Given the description of an element on the screen output the (x, y) to click on. 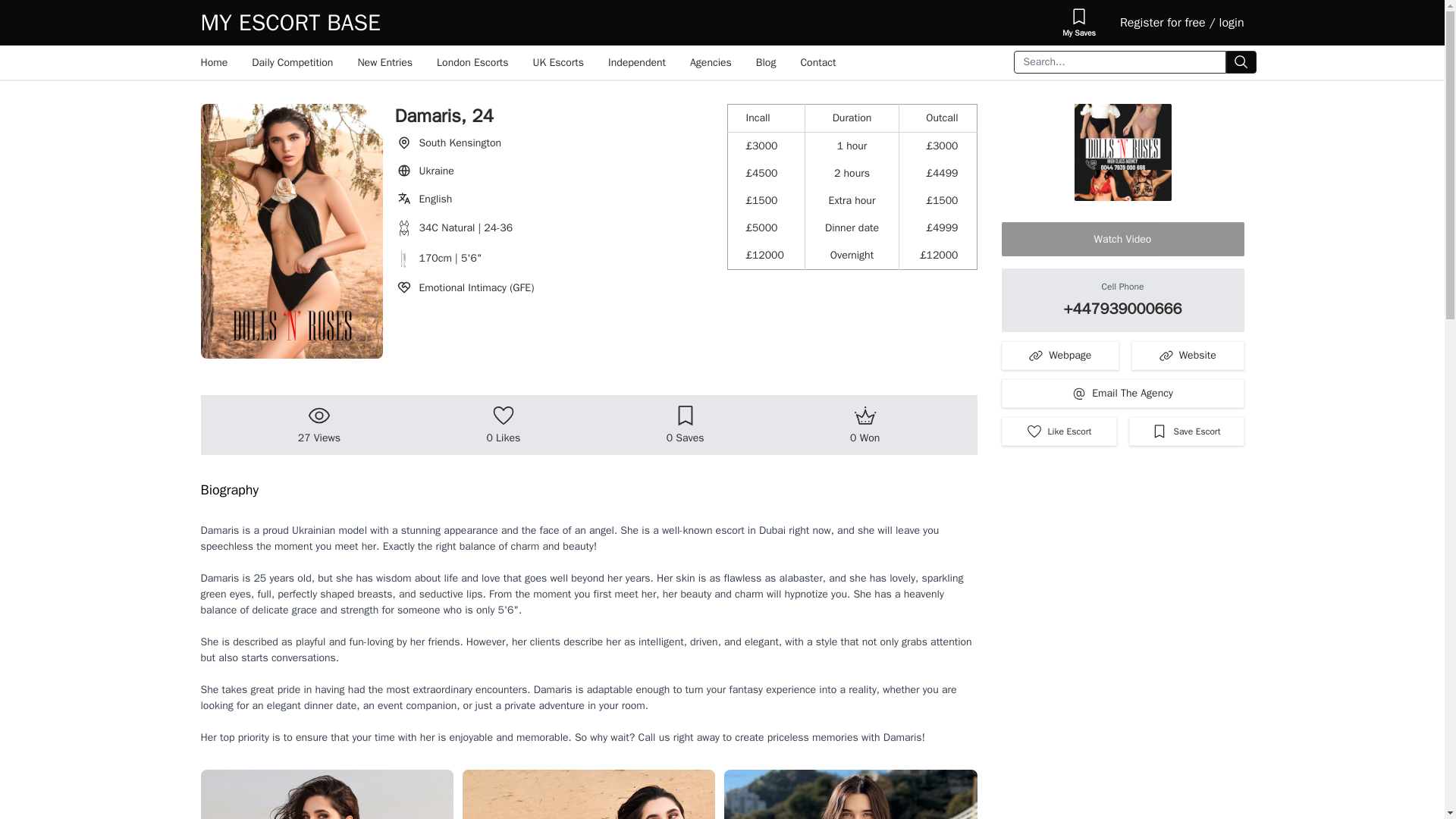
London Escorts (473, 62)
My Saves (1078, 22)
Email The Agency (1122, 393)
Daily Competition (292, 62)
Contact (817, 62)
New Entries (385, 62)
Home (213, 62)
Blog (766, 62)
Watch Video (1122, 238)
MY ESCORT BASE (290, 22)
